Given the description of an element on the screen output the (x, y) to click on. 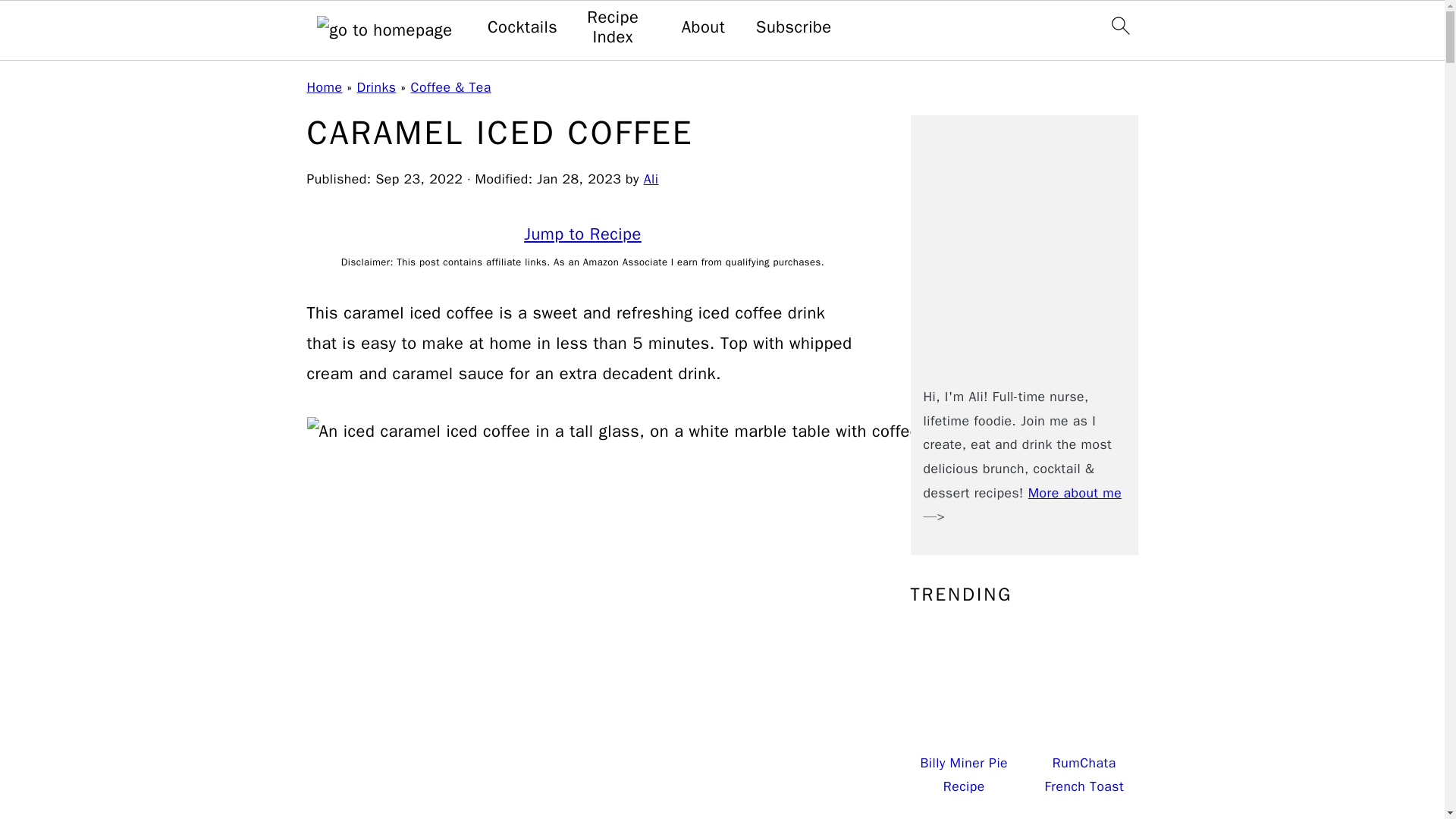
search icon (1119, 25)
Recipe Index (612, 27)
Jump to Recipe (582, 233)
Home (323, 86)
Subscribe (793, 26)
Jump to Recipe (582, 233)
About (703, 26)
Drinks (376, 86)
Cocktails (522, 26)
